Given the description of an element on the screen output the (x, y) to click on. 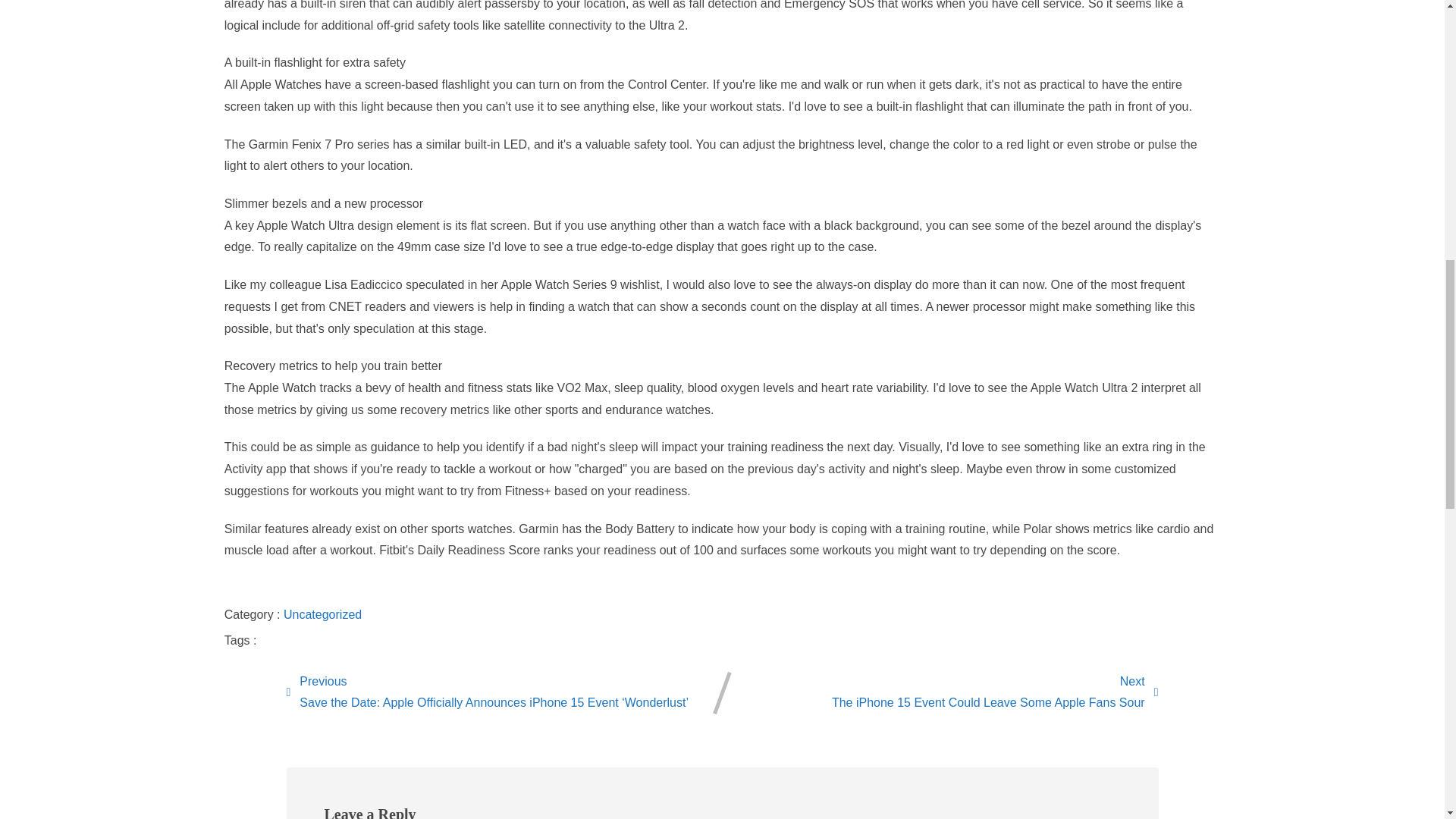
Uncategorized (994, 692)
